Given the description of an element on the screen output the (x, y) to click on. 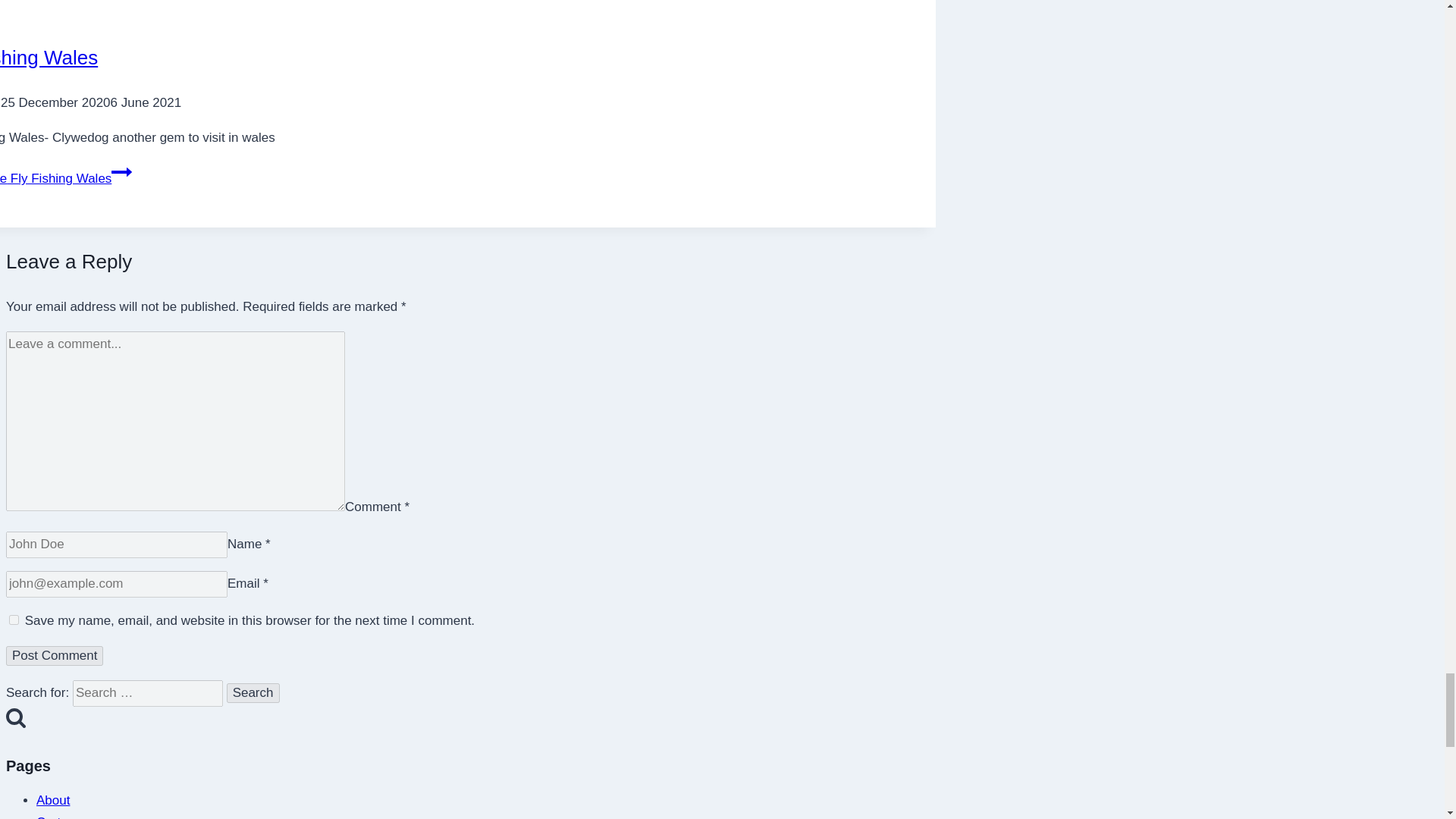
Search (15, 717)
Post Comment (54, 655)
Search (253, 692)
Search (253, 692)
yes (13, 619)
Continue (122, 171)
